Given the description of an element on the screen output the (x, y) to click on. 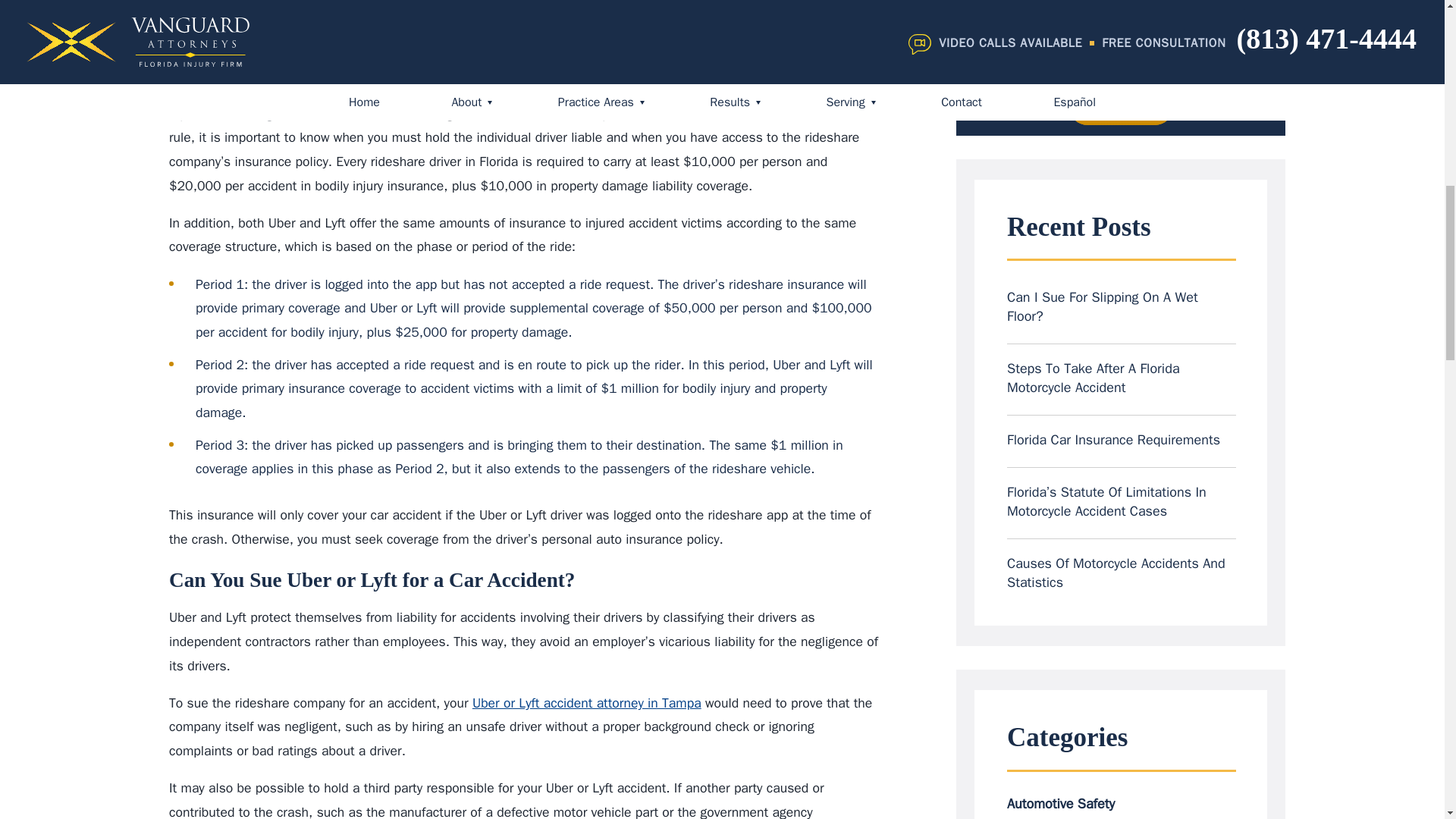
serious injury tort exemption (338, 34)
Uber or Lyft accident attorney in Tampa (586, 702)
